Given the description of an element on the screen output the (x, y) to click on. 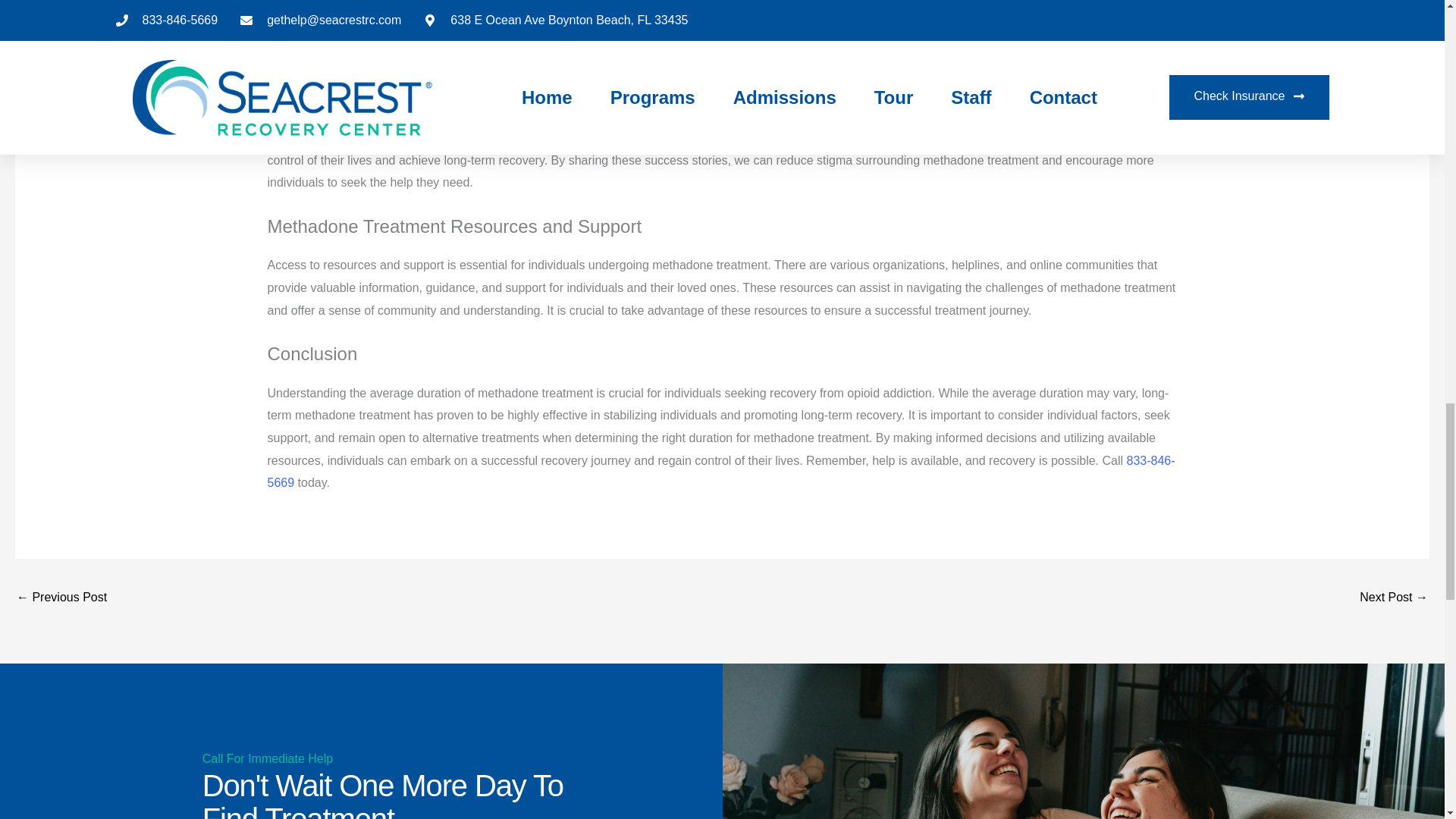
How long are most IOP programs? (1393, 598)
What are opiate substitutes? (61, 598)
